Given the description of an element on the screen output the (x, y) to click on. 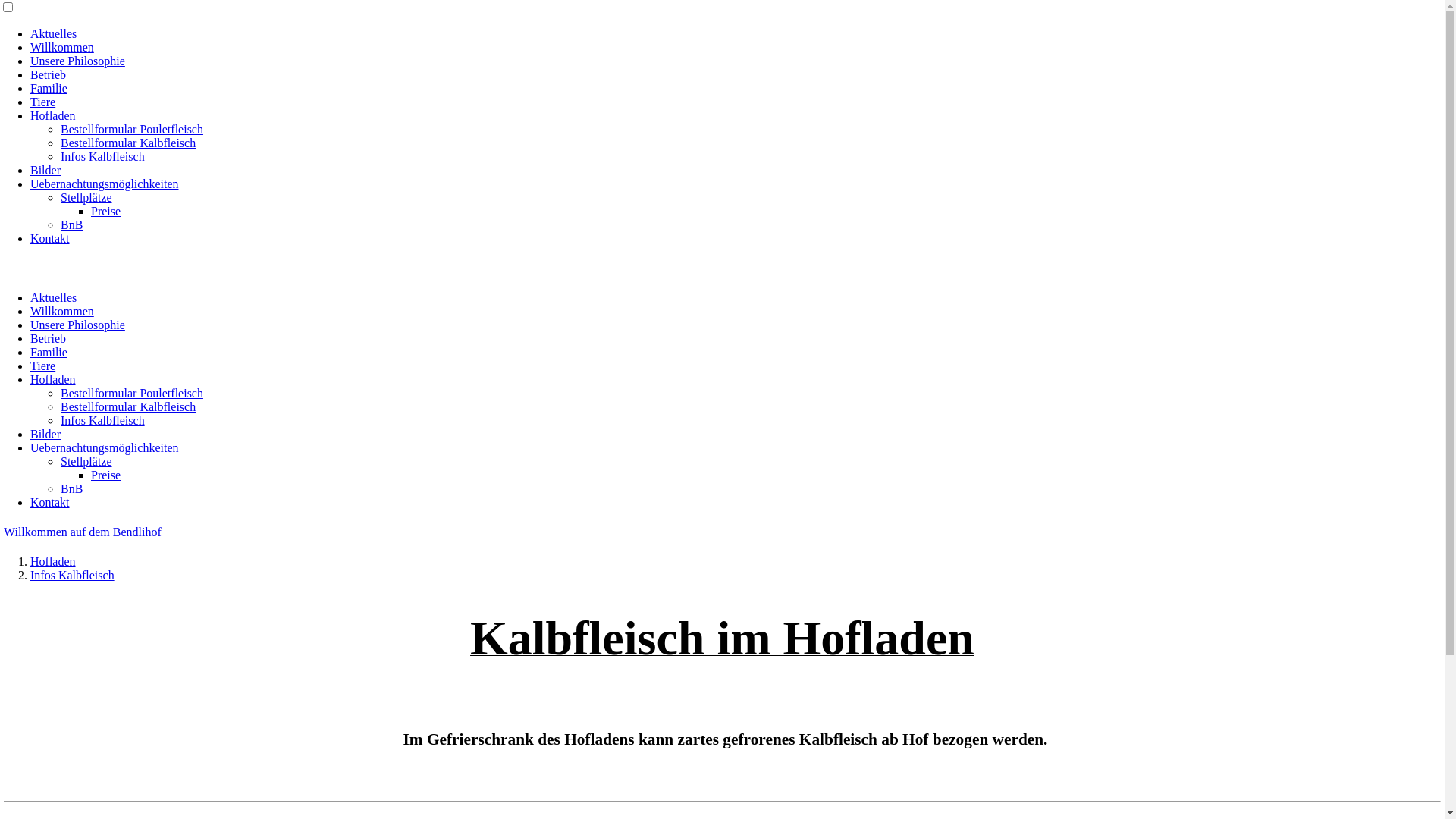
Willkommen Element type: text (62, 310)
Betrieb Element type: text (47, 338)
Kontakt Element type: text (49, 238)
Infos Kalbfleisch Element type: text (102, 420)
Tiere Element type: text (42, 101)
Kontakt Element type: text (49, 501)
Bestellformular Kalbfleisch Element type: text (127, 406)
BnB Element type: text (71, 224)
Preise Element type: text (105, 210)
Bestellformular Kalbfleisch Element type: text (127, 142)
Hofladen Element type: text (52, 379)
Willkommen auf dem Bendlihof Element type: text (721, 532)
Bilder Element type: text (45, 169)
Hofladen Element type: text (52, 115)
Willkommen Element type: text (62, 46)
Bilder Element type: text (45, 433)
Tiere Element type: text (42, 365)
Unsere Philosophie Element type: text (77, 60)
Infos Kalbfleisch Element type: text (102, 156)
Bestellformular Pouletfleisch Element type: text (131, 128)
Betrieb Element type: text (47, 74)
Unsere Philosophie Element type: text (77, 324)
Hofladen Element type: text (52, 561)
Aktuelles Element type: text (53, 297)
Bestellformular Pouletfleisch Element type: text (131, 392)
BnB Element type: text (71, 488)
Familie Element type: text (48, 351)
Familie Element type: text (48, 87)
Preise Element type: text (105, 474)
Aktuelles Element type: text (53, 33)
Infos Kalbfleisch Element type: text (72, 574)
